Given the description of an element on the screen output the (x, y) to click on. 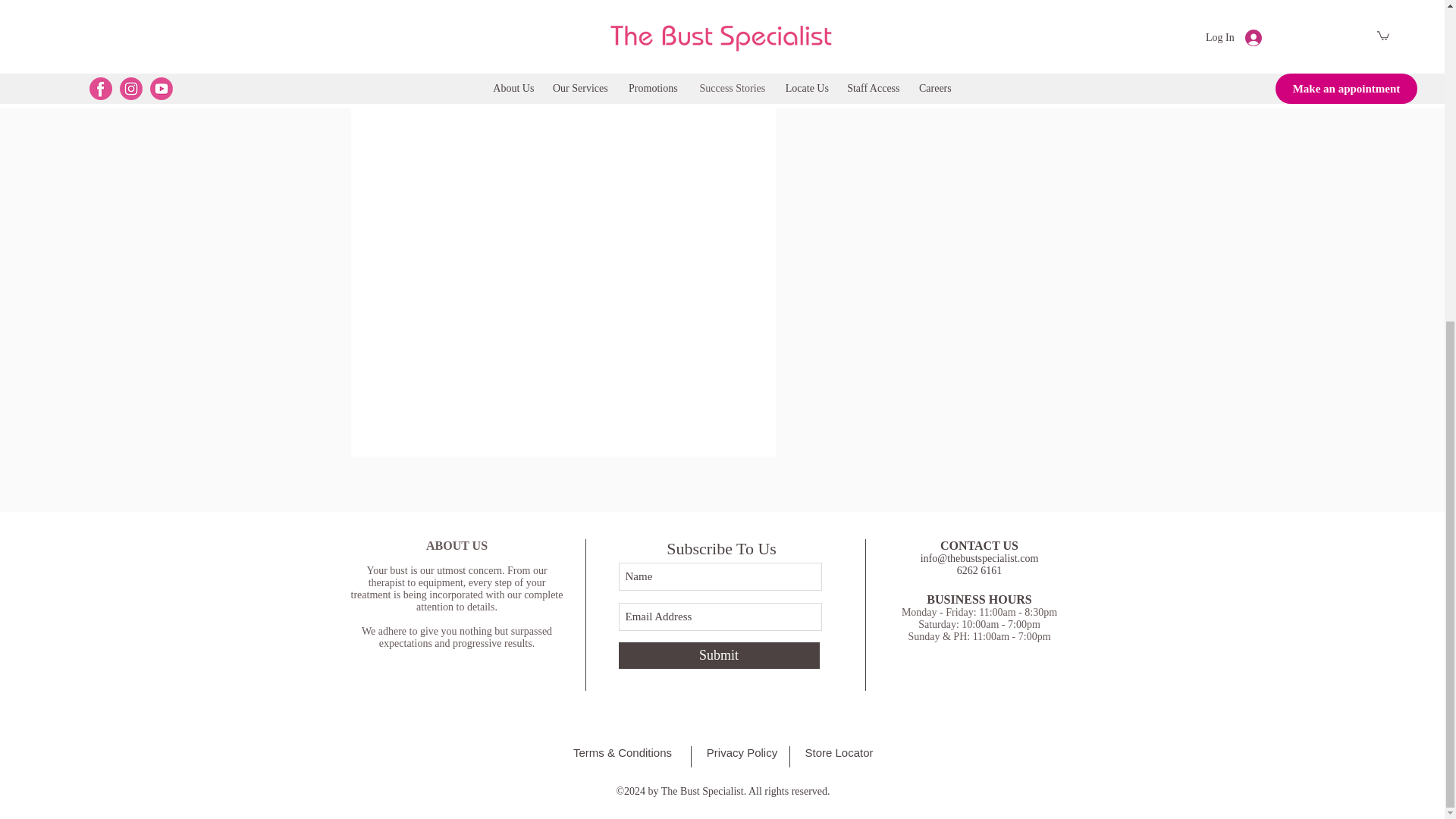
Submit (718, 655)
Privacy Policy (741, 752)
Store Locator (838, 752)
